Given the description of an element on the screen output the (x, y) to click on. 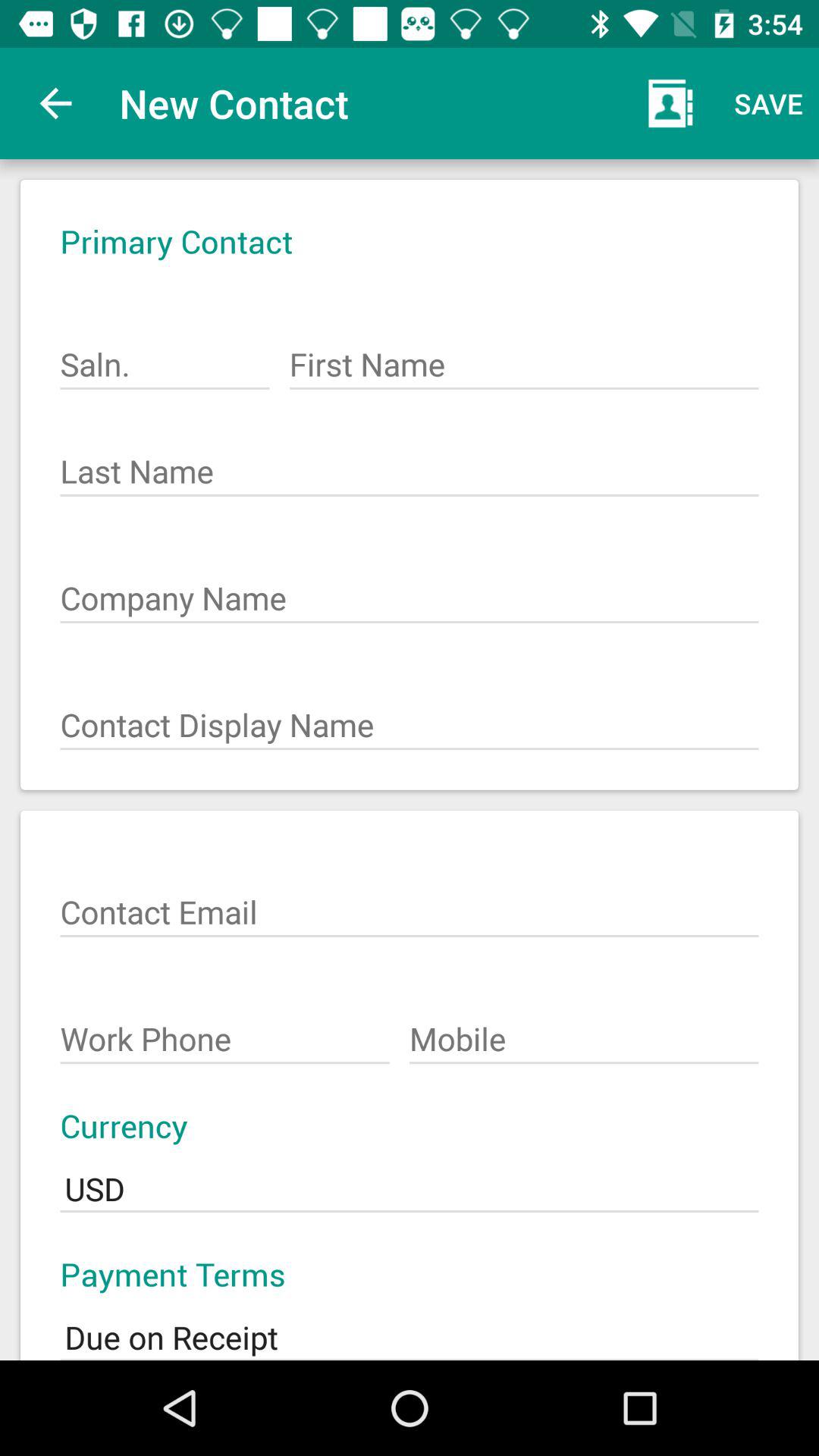
open icon to the right of new contact icon (670, 103)
